Given the description of an element on the screen output the (x, y) to click on. 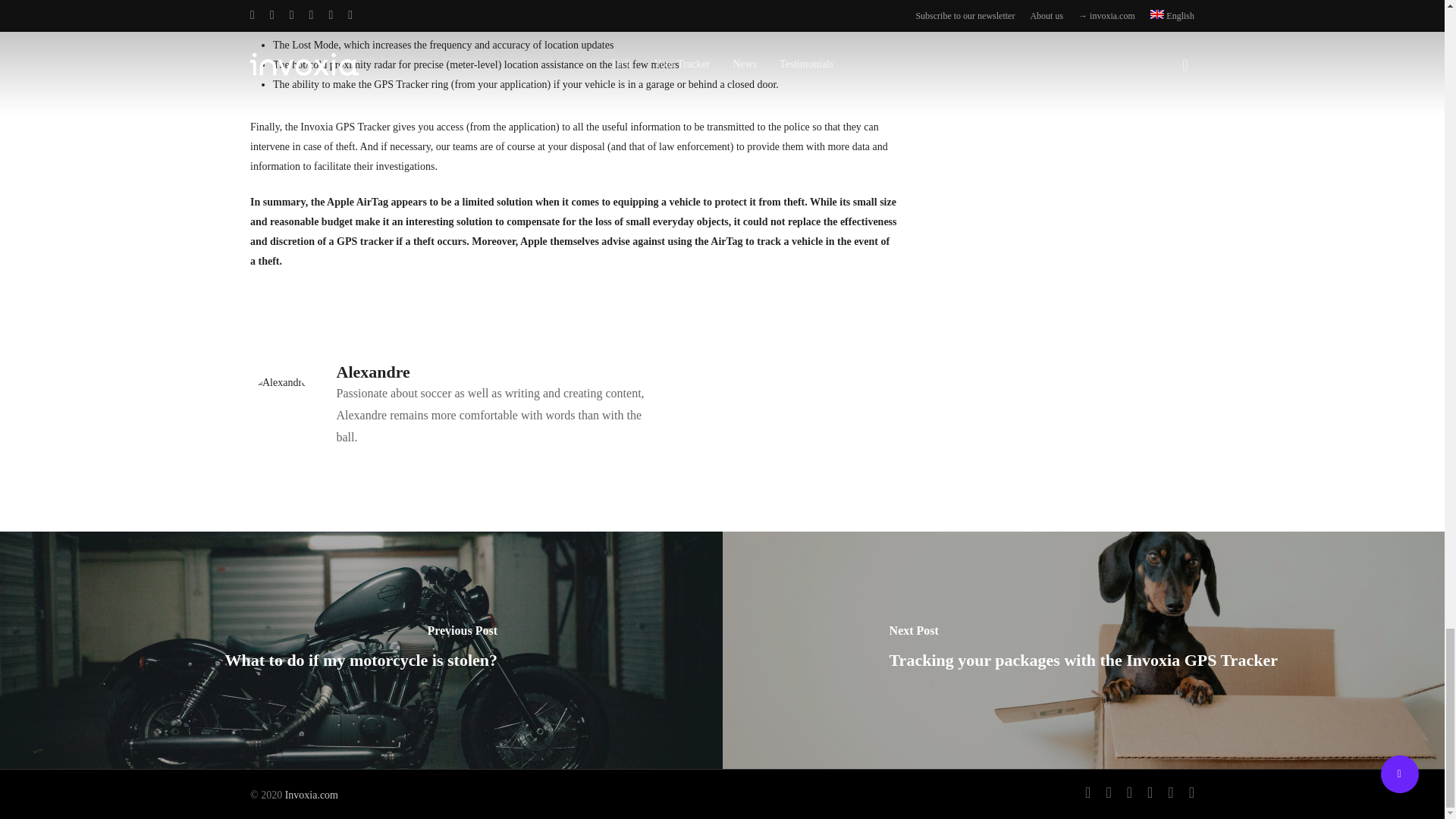
Alexandre (373, 371)
